Given the description of an element on the screen output the (x, y) to click on. 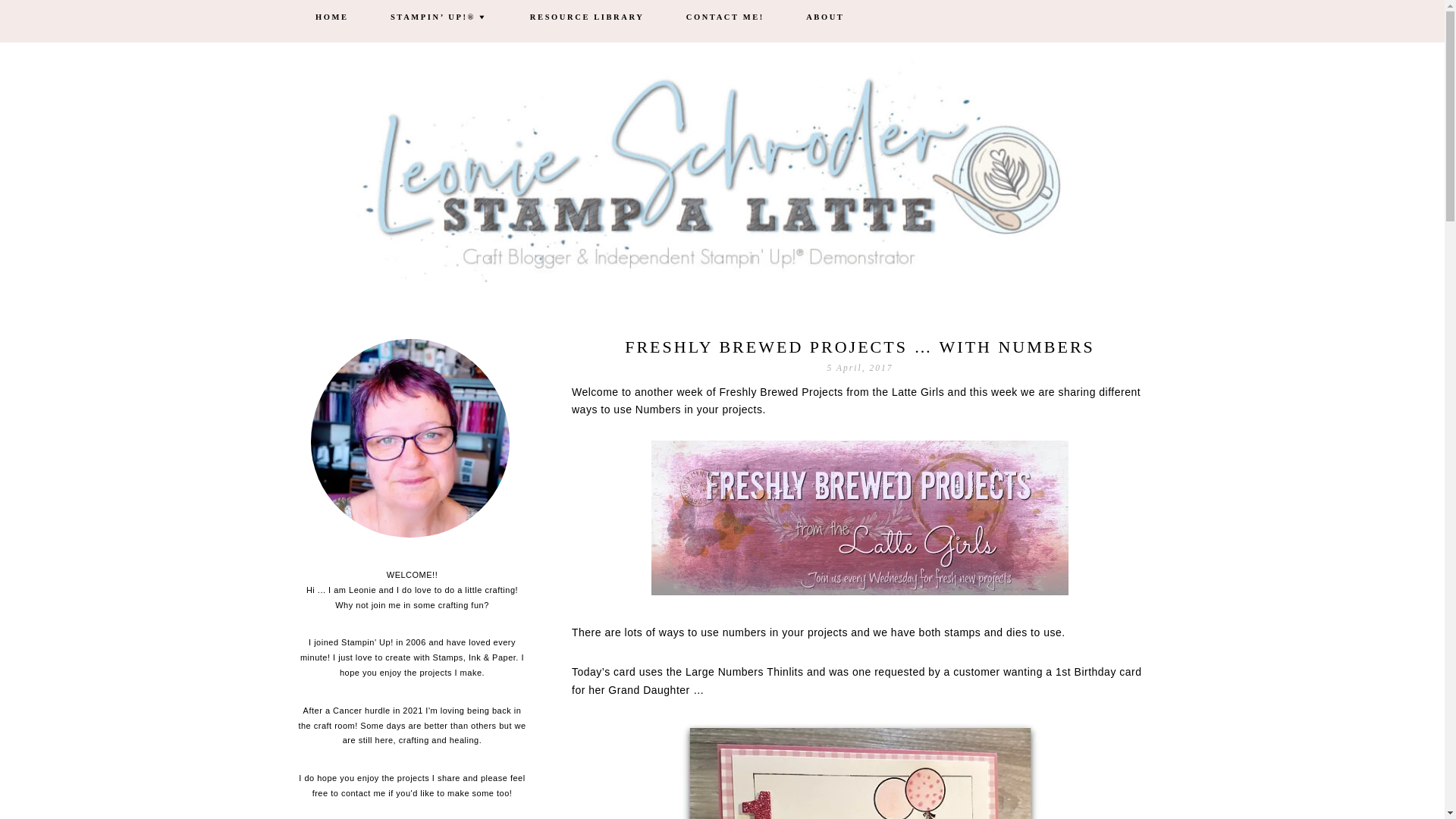
Email Me! (410, 442)
HOME (332, 18)
CONTACT ME! (724, 18)
ABOUT (825, 18)
RESOURCE LIBRARY (587, 18)
